Given the description of an element on the screen output the (x, y) to click on. 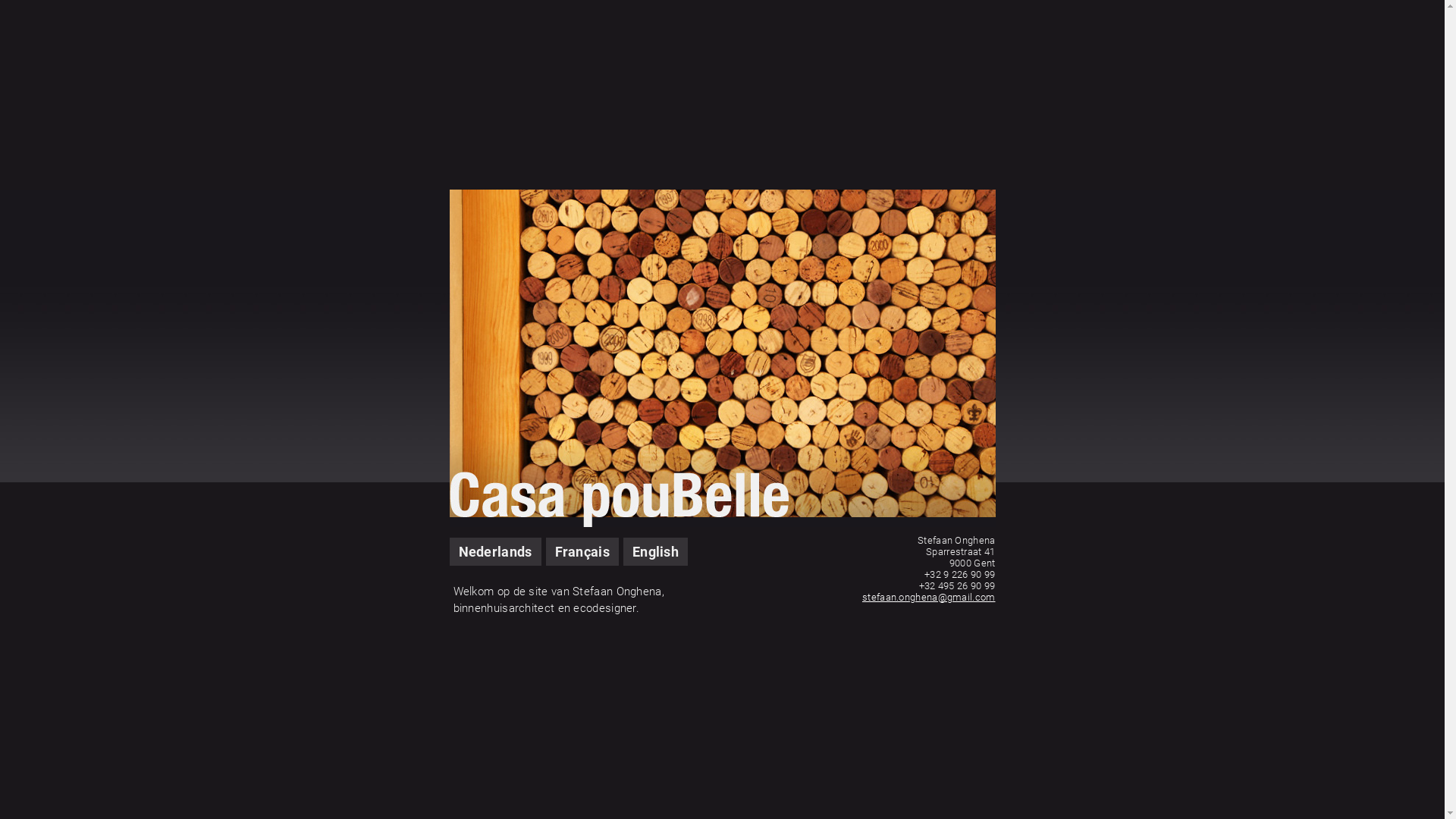
English Element type: text (655, 551)
Nederlands Element type: text (494, 551)
stefaan.onghena@gmail.com Element type: text (928, 596)
